Given the description of an element on the screen output the (x, y) to click on. 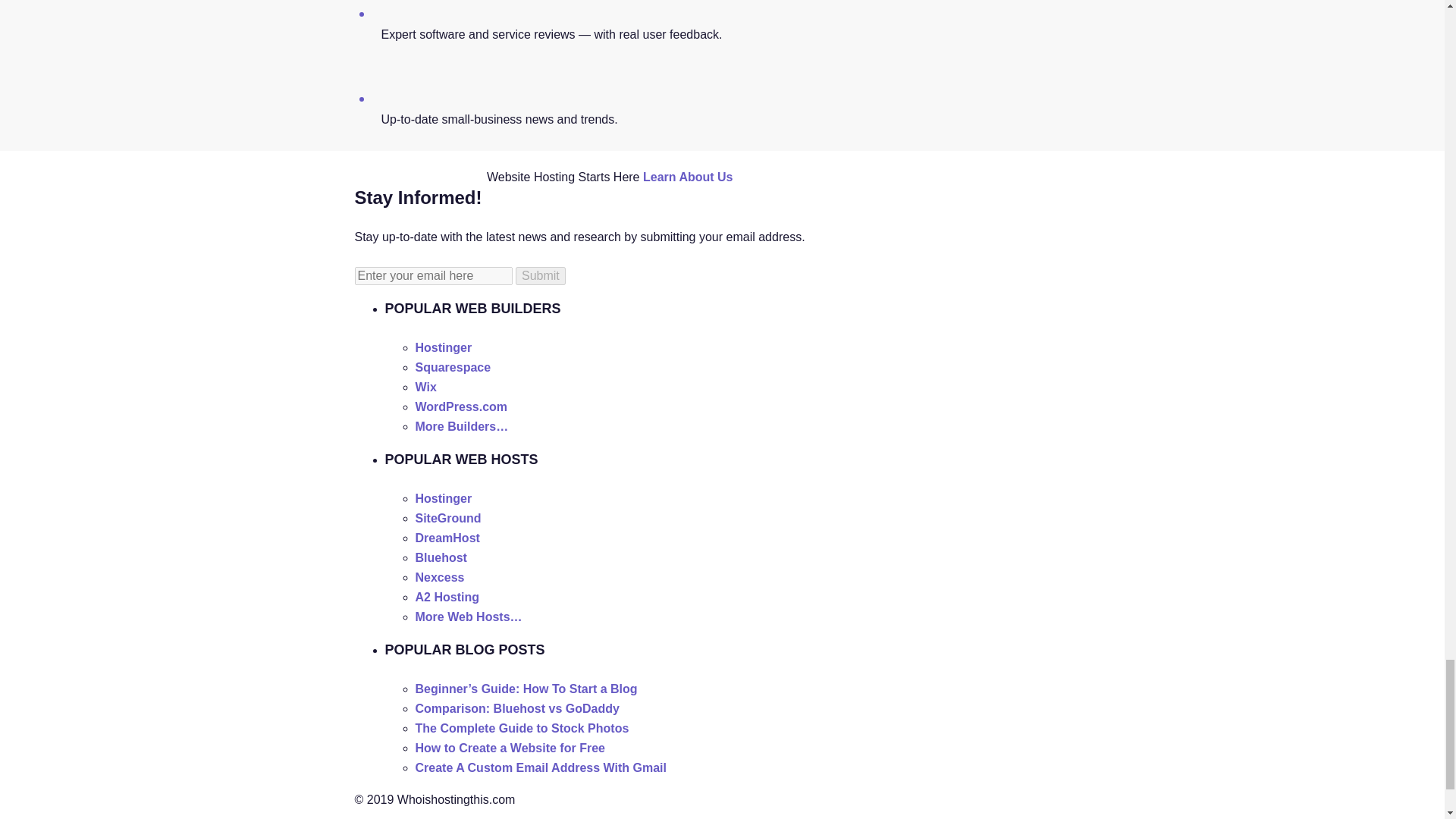
Submit (540, 275)
